Given the description of an element on the screen output the (x, y) to click on. 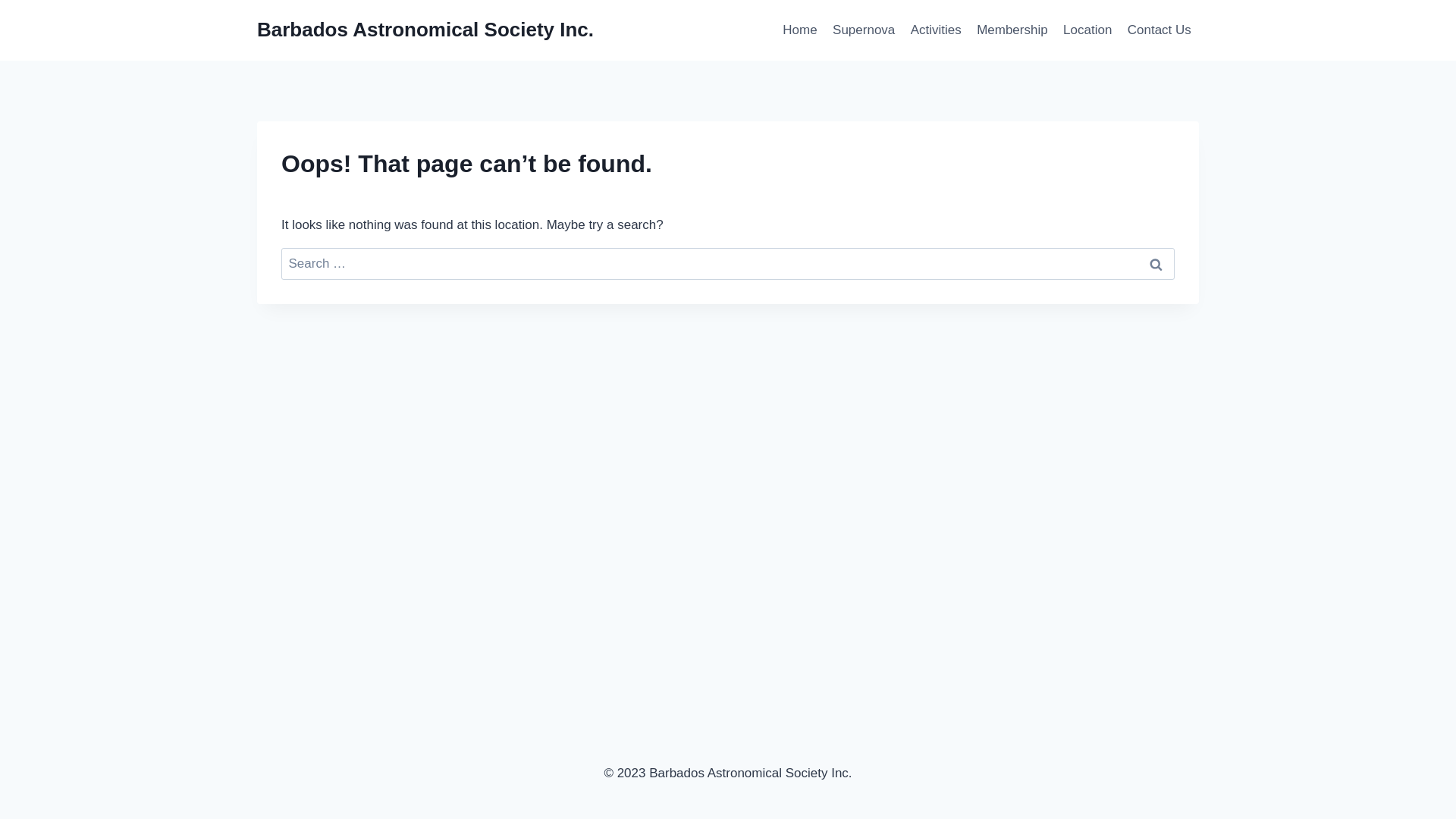
Membership Element type: text (1012, 30)
Supernova Element type: text (864, 30)
Search Element type: text (1155, 263)
Location Element type: text (1087, 30)
Home Element type: text (800, 30)
Barbados Astronomical Society Inc. Element type: text (425, 29)
Activities Element type: text (935, 30)
Contact Us Element type: text (1159, 30)
